Given the description of an element on the screen output the (x, y) to click on. 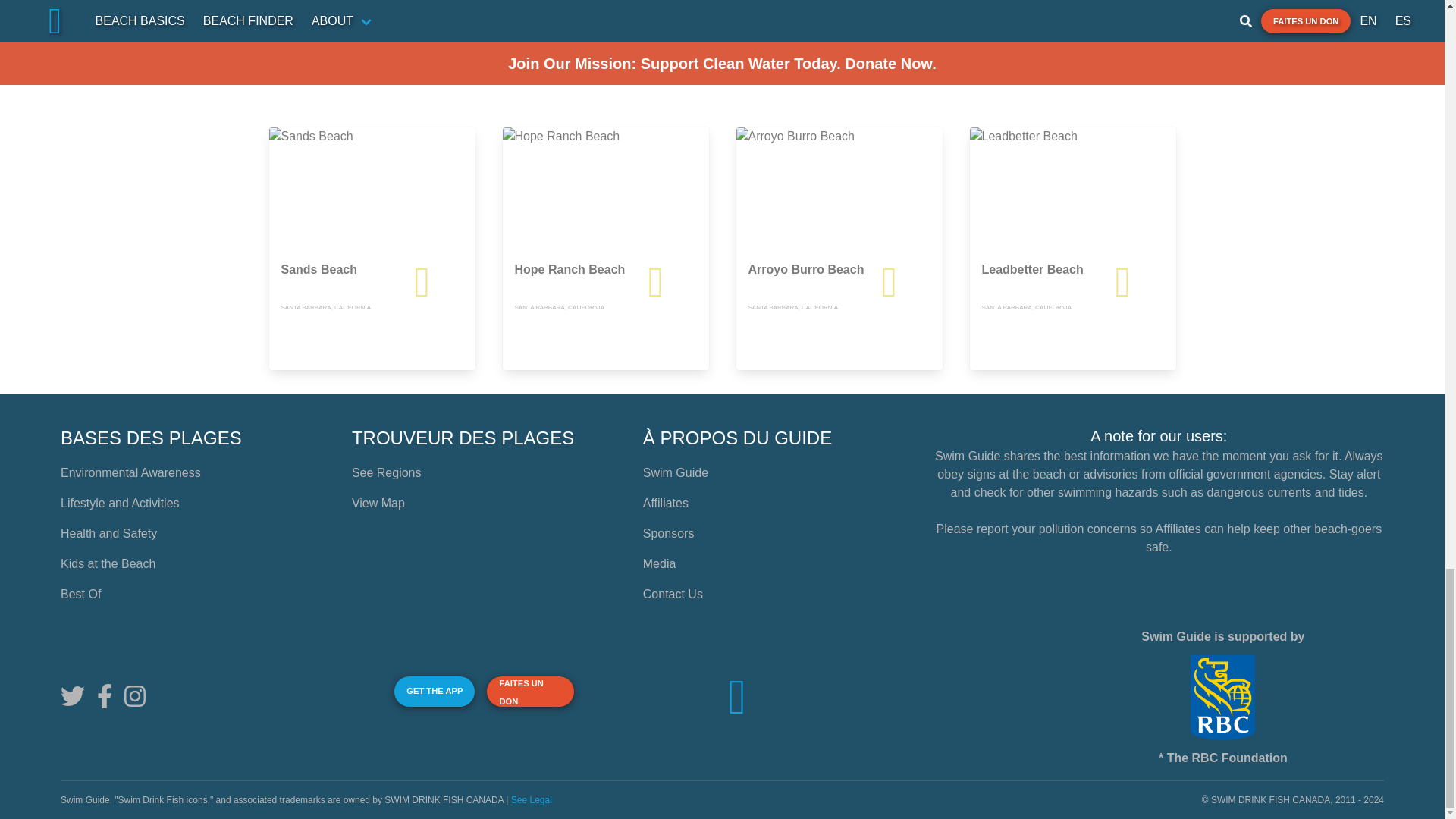
See Regions (387, 472)
Best Of (80, 594)
Kids at the Beach (108, 563)
Health and Safety (109, 533)
Lifestyle and Activities (120, 502)
VOIR TOUT (1138, 73)
Environmental Awareness (130, 472)
